Given the description of an element on the screen output the (x, y) to click on. 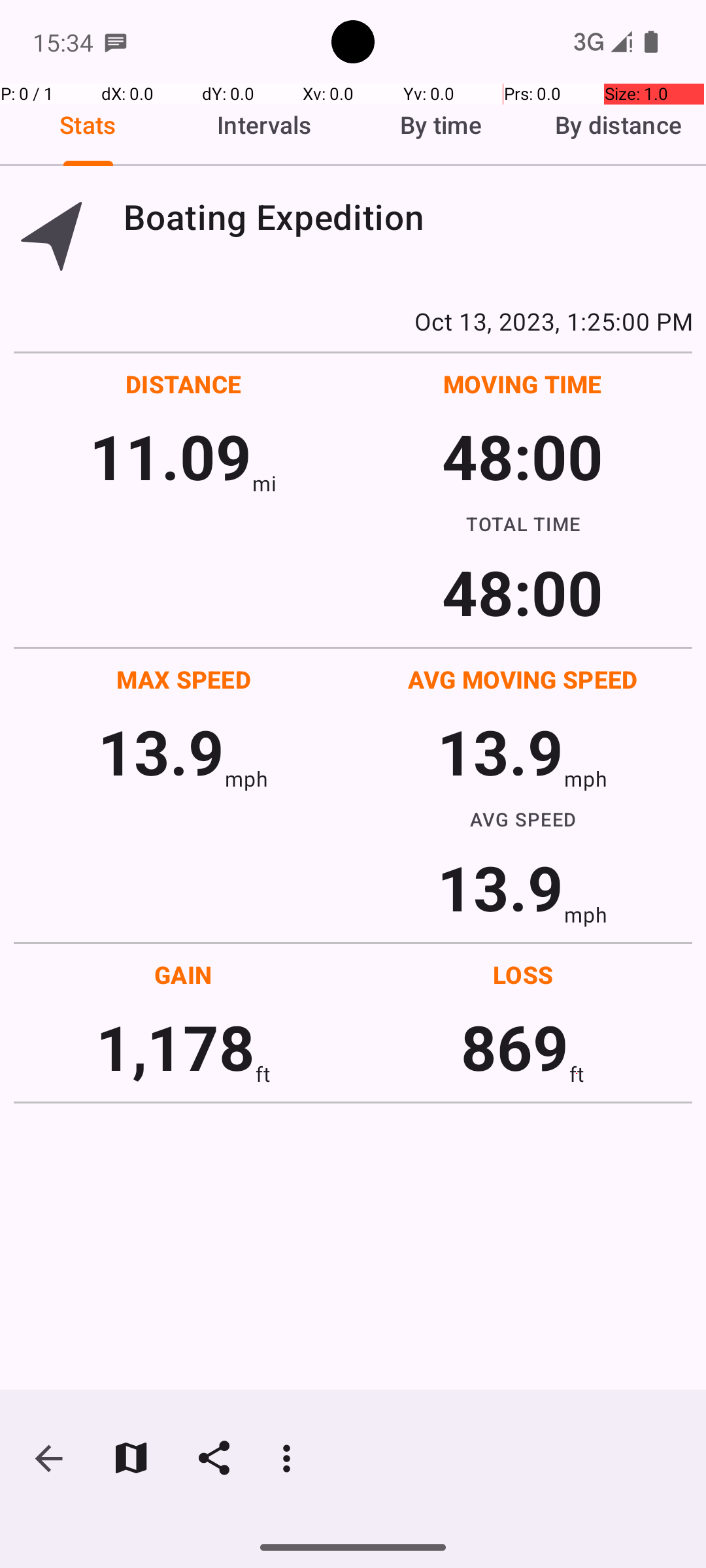
Boating Expedition Element type: android.widget.TextView (407, 216)
Oct 13, 2023, 1:25:00 PM Element type: android.widget.TextView (352, 320)
11.09 Element type: android.widget.TextView (170, 455)
48:00 Element type: android.widget.TextView (522, 455)
13.9 Element type: android.widget.TextView (161, 750)
1,178 Element type: android.widget.TextView (175, 1045)
869 Element type: android.widget.TextView (514, 1045)
